Given the description of an element on the screen output the (x, y) to click on. 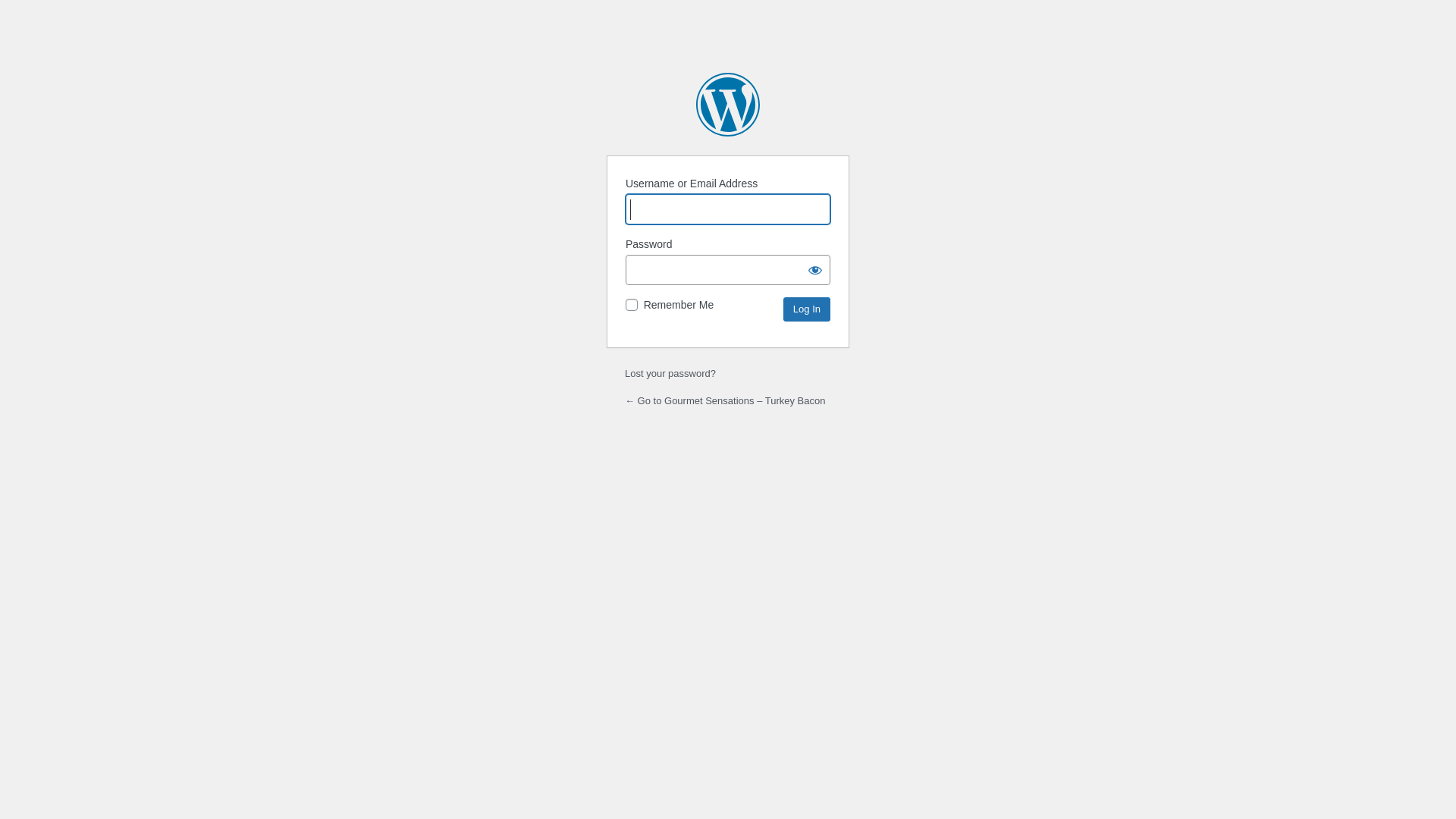
Log In Element type: text (806, 309)
Powered by WordPress Element type: text (727, 104)
Lost your password? Element type: text (669, 373)
